Given the description of an element on the screen output the (x, y) to click on. 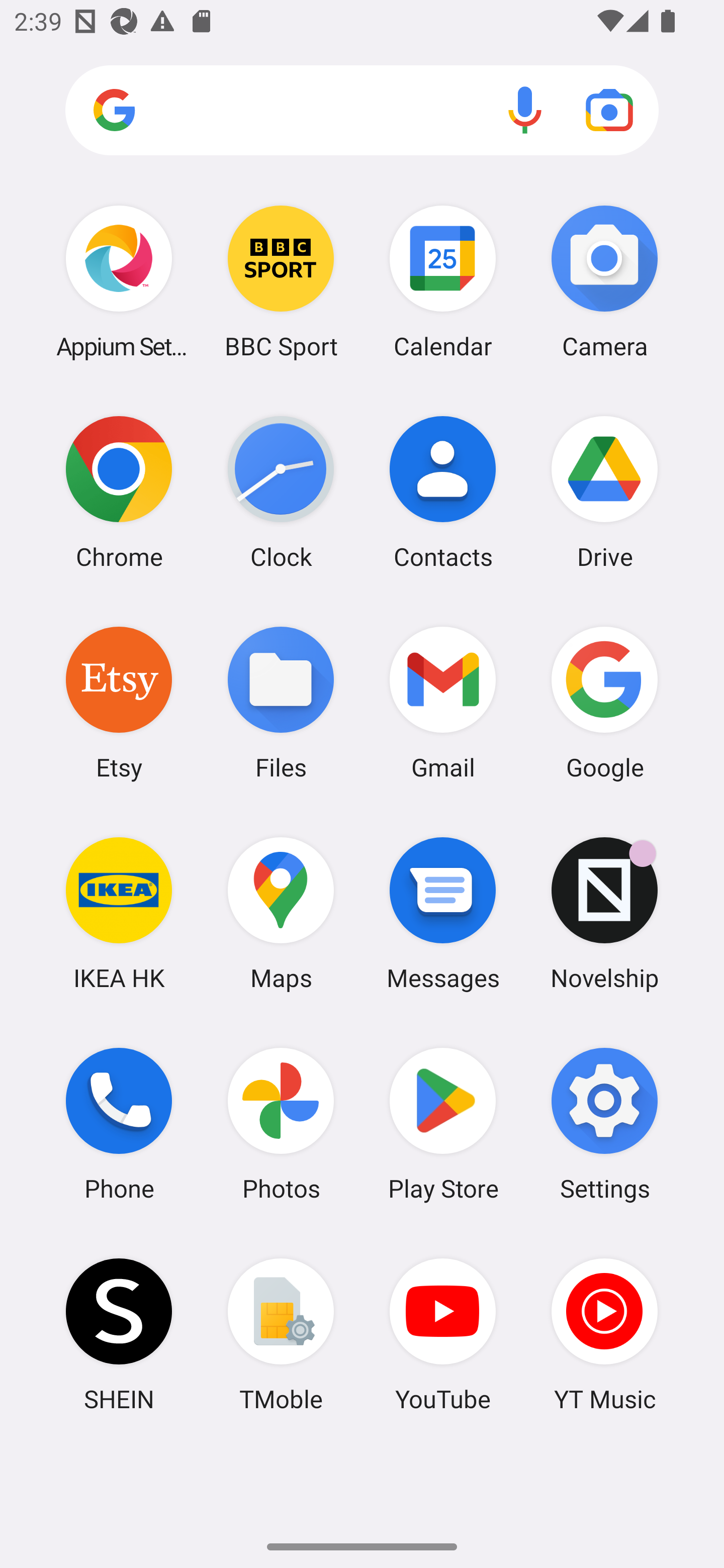
Search apps, web and more (361, 110)
Voice search (524, 109)
Google Lens (608, 109)
Appium Settings (118, 281)
BBC Sport (280, 281)
Calendar (443, 281)
Camera (604, 281)
Chrome (118, 492)
Clock (280, 492)
Contacts (443, 492)
Drive (604, 492)
Etsy (118, 702)
Files (280, 702)
Gmail (443, 702)
Google (604, 702)
IKEA HK (118, 913)
Maps (280, 913)
Messages (443, 913)
Novelship Novelship has 10 notifications (604, 913)
Phone (118, 1124)
Photos (280, 1124)
Play Store (443, 1124)
Settings (604, 1124)
SHEIN (118, 1334)
TMoble (280, 1334)
YouTube (443, 1334)
YT Music (604, 1334)
